Given the description of an element on the screen output the (x, y) to click on. 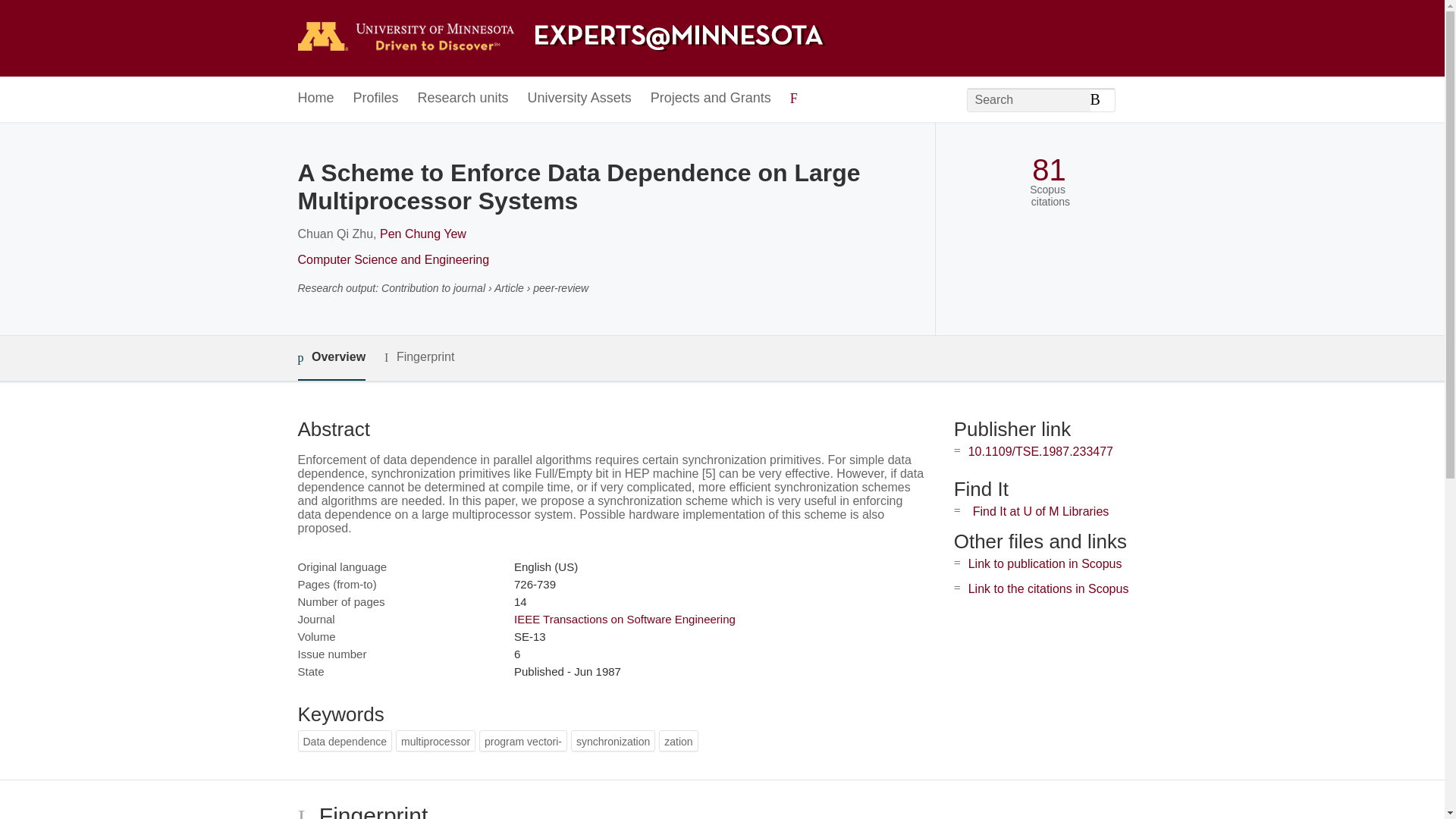
Pen Chung Yew (422, 233)
Profiles (375, 98)
University Assets (579, 98)
Computer Science and Engineering (393, 259)
Research units (462, 98)
Overview (331, 357)
Link to publication in Scopus (1045, 563)
Projects and Grants (710, 98)
Fingerprint (419, 357)
81 (1048, 170)
Link to the citations in Scopus (1048, 588)
IEEE Transactions on Software Engineering (624, 618)
Find It at U of M Libraries (1040, 511)
